Given the description of an element on the screen output the (x, y) to click on. 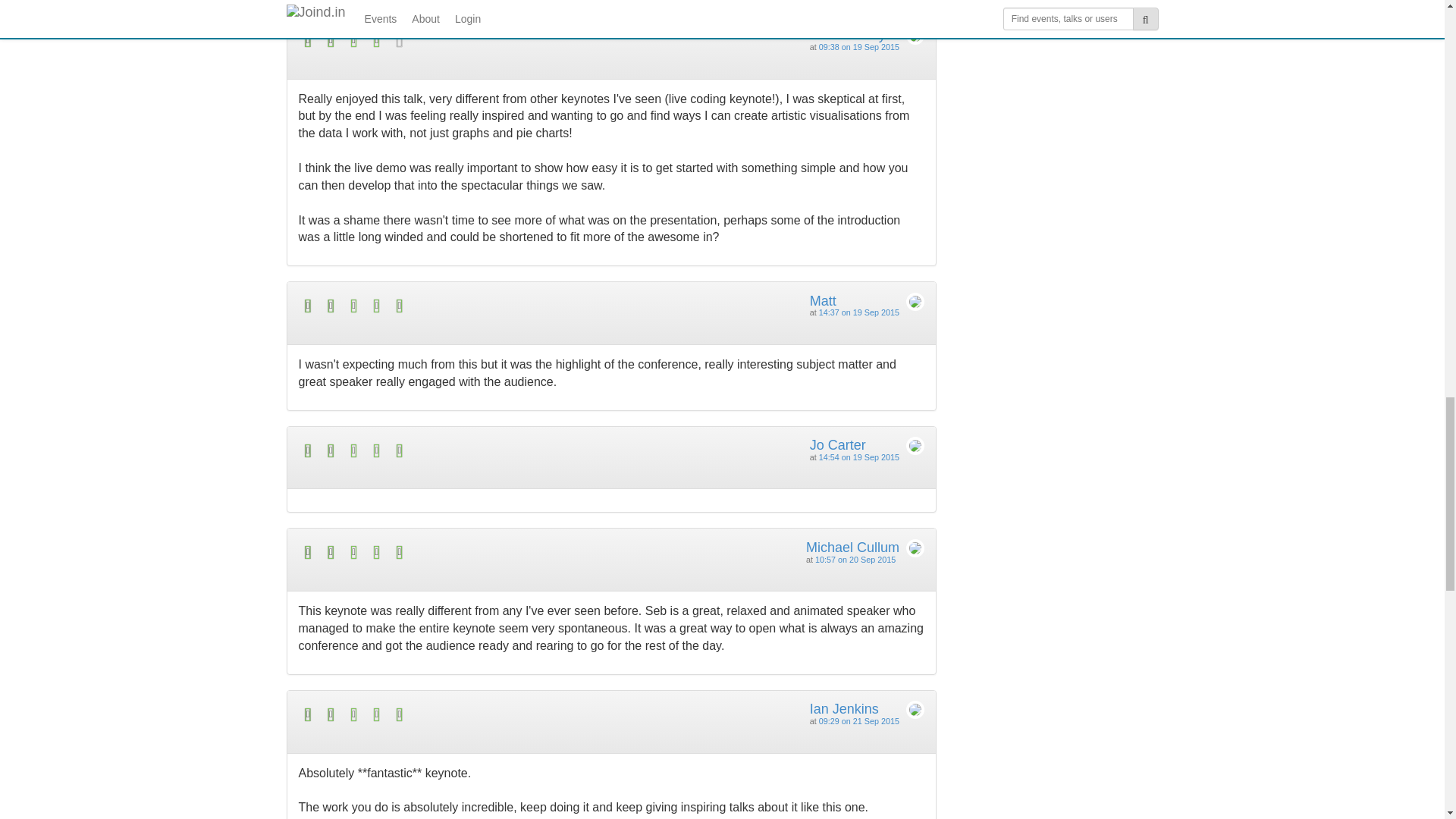
Rated 5 (454, 714)
Rated 5 (454, 450)
Rated 5 (454, 551)
Matt (822, 300)
10:57 on 20 Sep 2015 (855, 559)
Jo Carter (837, 444)
Ian Jenkins (844, 708)
Chris Sherry (847, 34)
Rated 4 (454, 40)
09:29 on 21 Sep 2015 (858, 720)
